Given the description of an element on the screen output the (x, y) to click on. 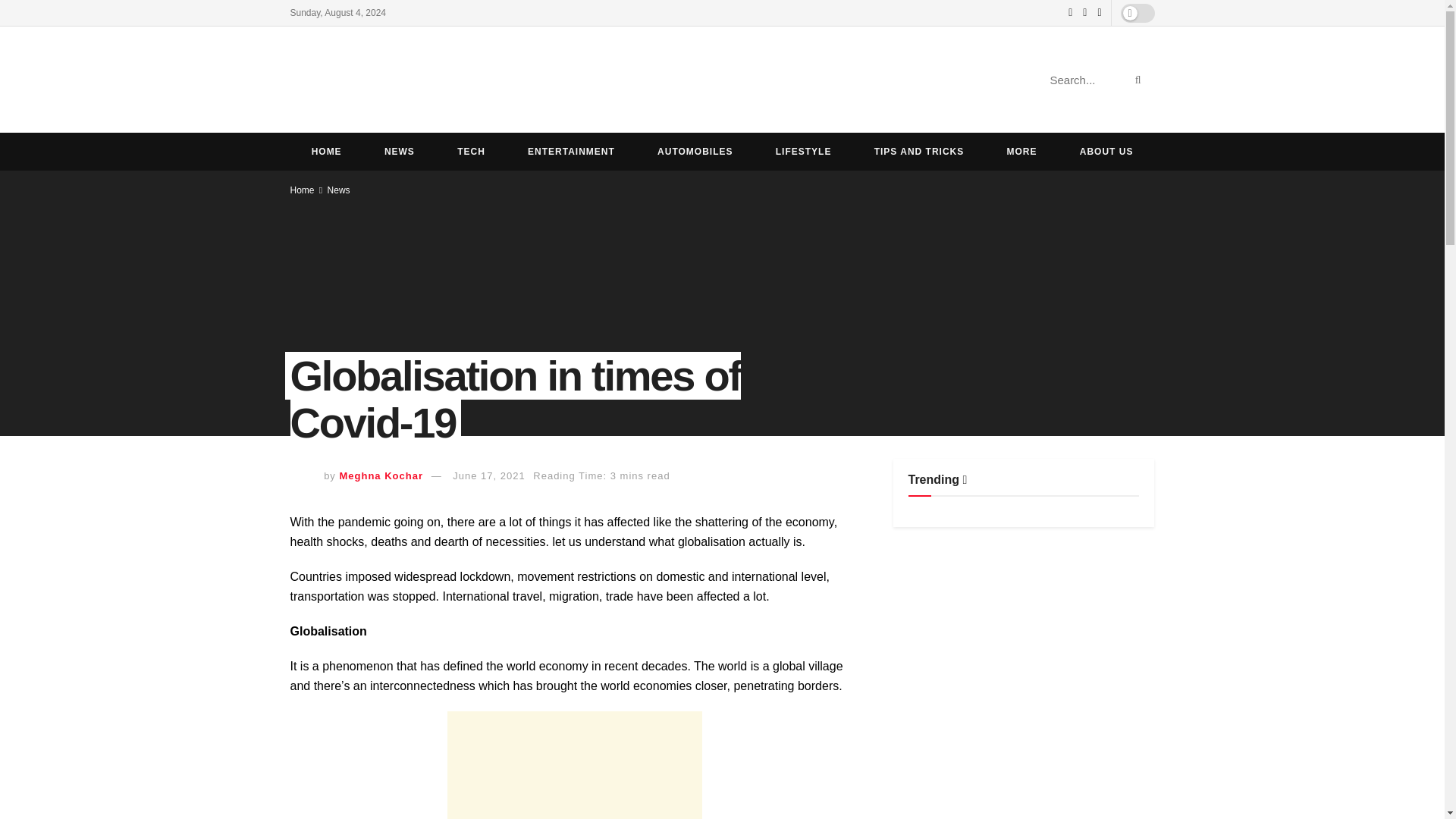
TECH (470, 151)
ABOUT US (1106, 151)
ENTERTAINMENT (571, 151)
MORE (1021, 151)
HOME (325, 151)
NEWS (398, 151)
LIFESTYLE (803, 151)
AUTOMOBILES (695, 151)
TIPS AND TRICKS (919, 151)
